Given the description of an element on the screen output the (x, y) to click on. 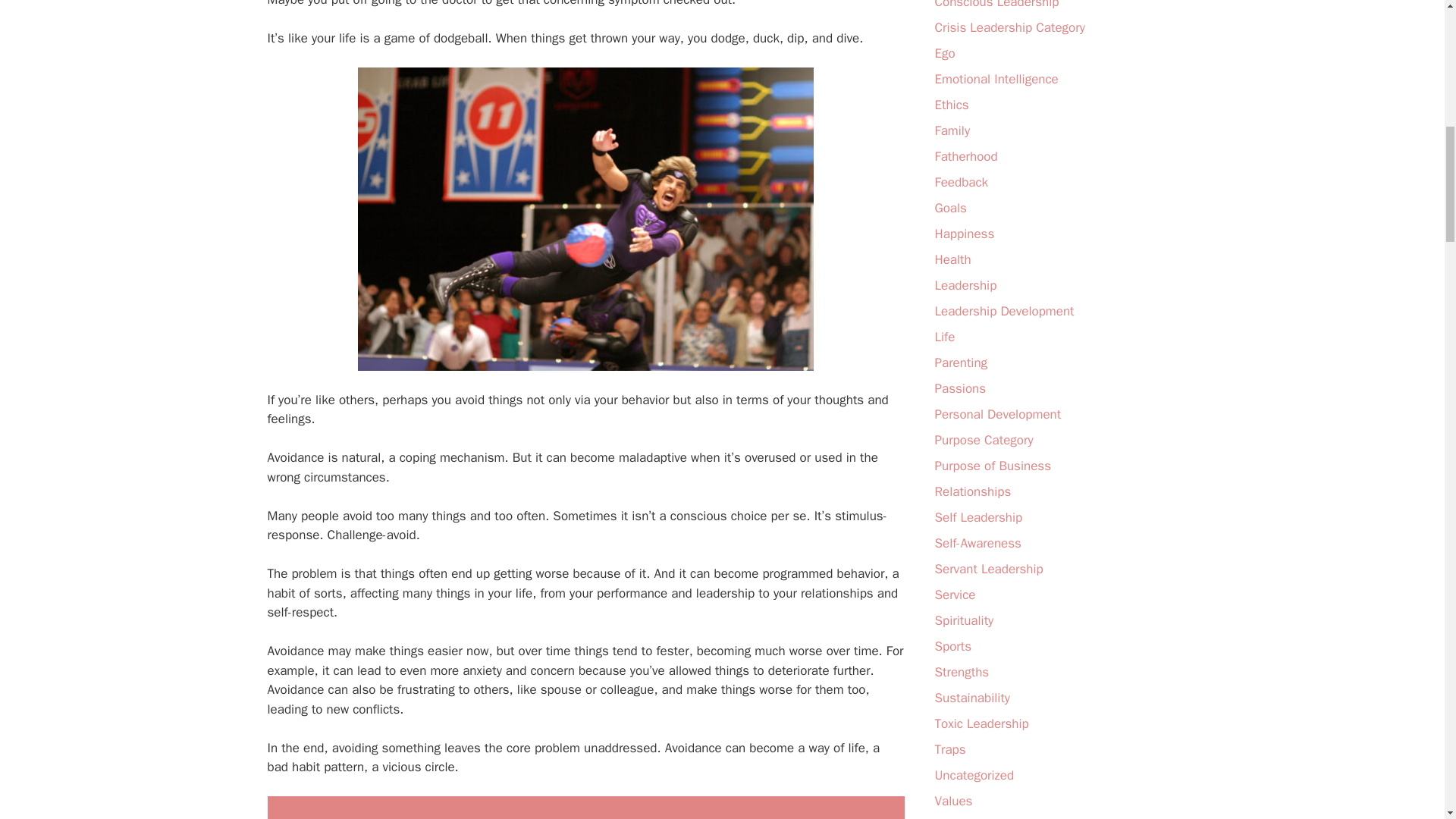
Scroll back to top (1406, 720)
